Given the description of an element on the screen output the (x, y) to click on. 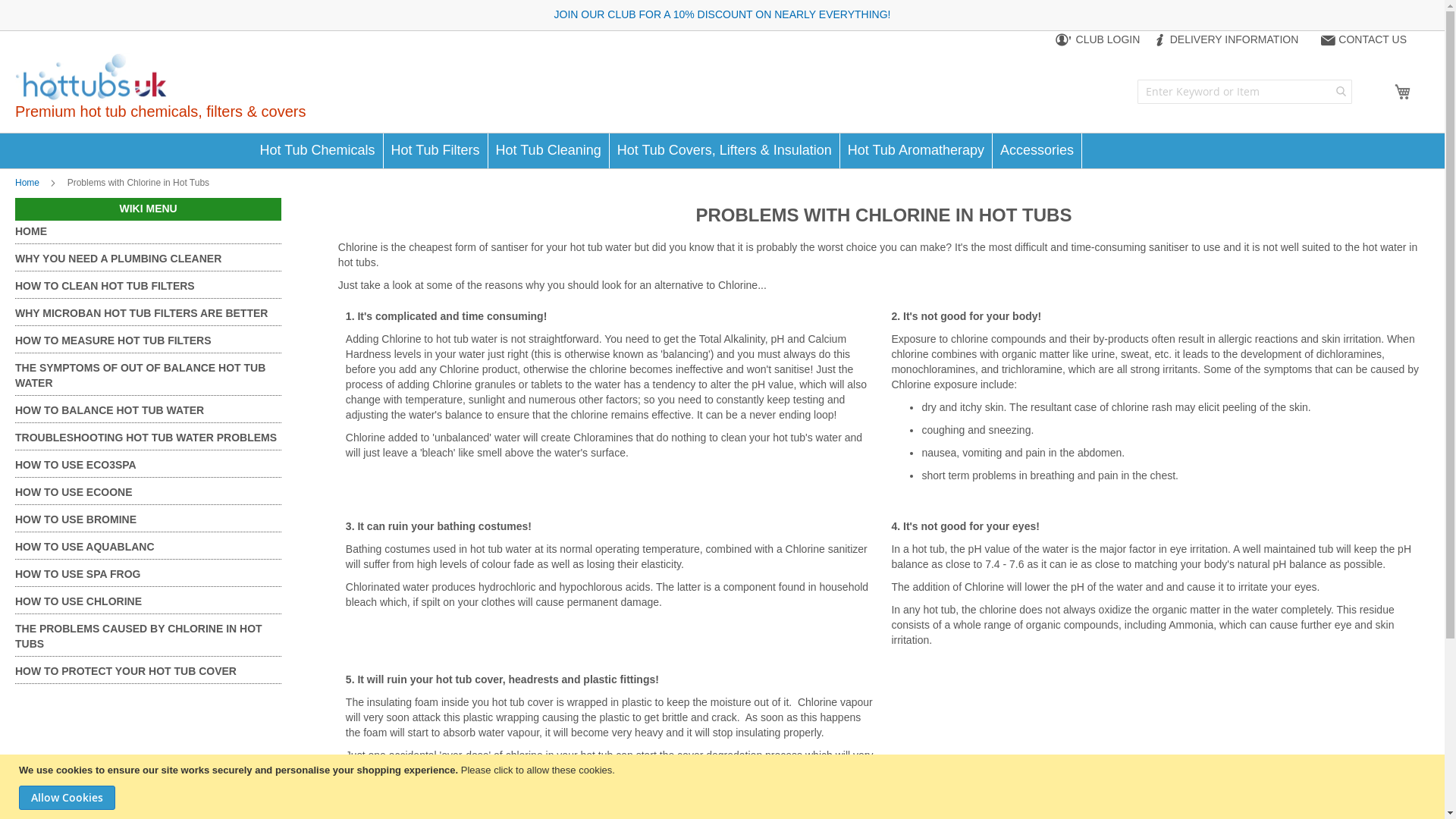
Hot Tub Filters (435, 150)
Hot Tubs UK, Hot Tub Chemicals, Hot Tub Filters (90, 77)
CONTACT US (1363, 40)
Hot Tub Chemicals (316, 150)
Hot Tub Cleaning (548, 150)
Go to Home Page (28, 182)
CLUB LOGIN (1097, 40)
Allow Cookies (66, 797)
DELIVERY INFORMATION (1225, 40)
